Given the description of an element on the screen output the (x, y) to click on. 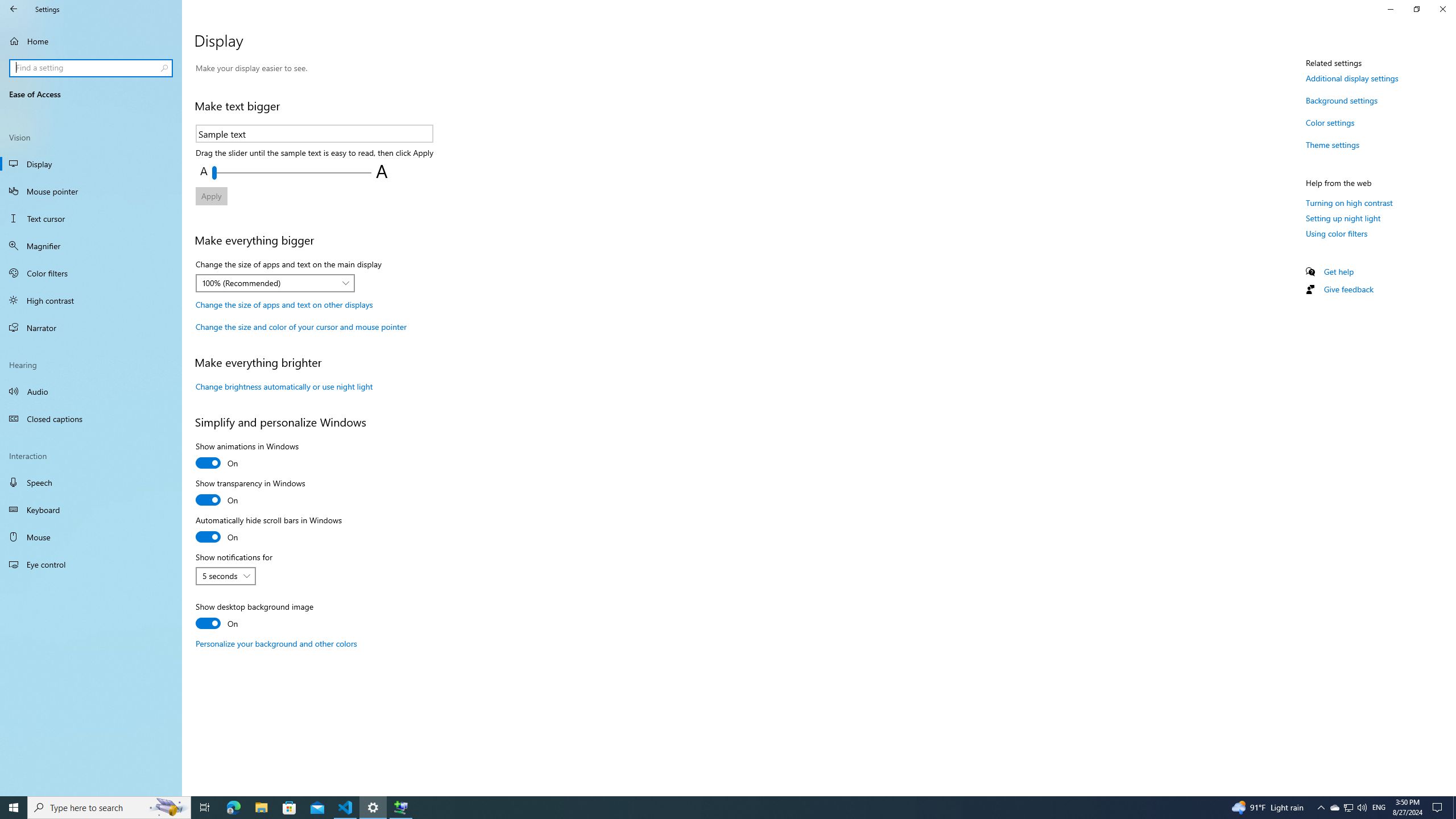
Turning on high contrast (1349, 202)
Search box, Find a setting (91, 67)
Setting up night light (1343, 217)
Restore Settings (1416, 9)
Color filters (91, 272)
Minimize Settings (1390, 9)
Show desktop background image (254, 616)
Change the size of apps and text on other displays (283, 303)
Magnifier (91, 245)
Closed captions (91, 418)
Narrator (91, 327)
